Given the description of an element on the screen output the (x, y) to click on. 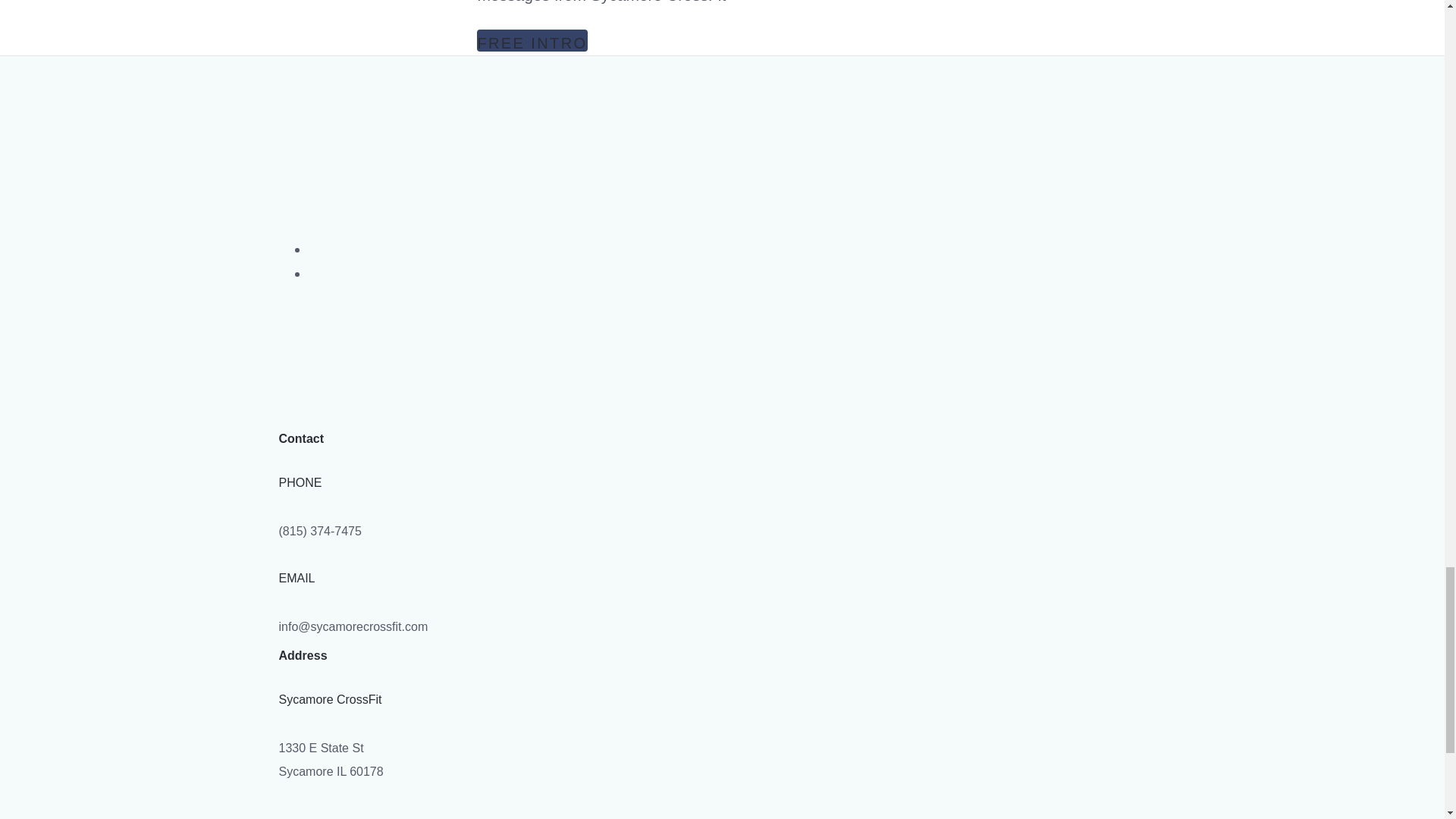
FREE INTRO (531, 40)
